Given the description of an element on the screen output the (x, y) to click on. 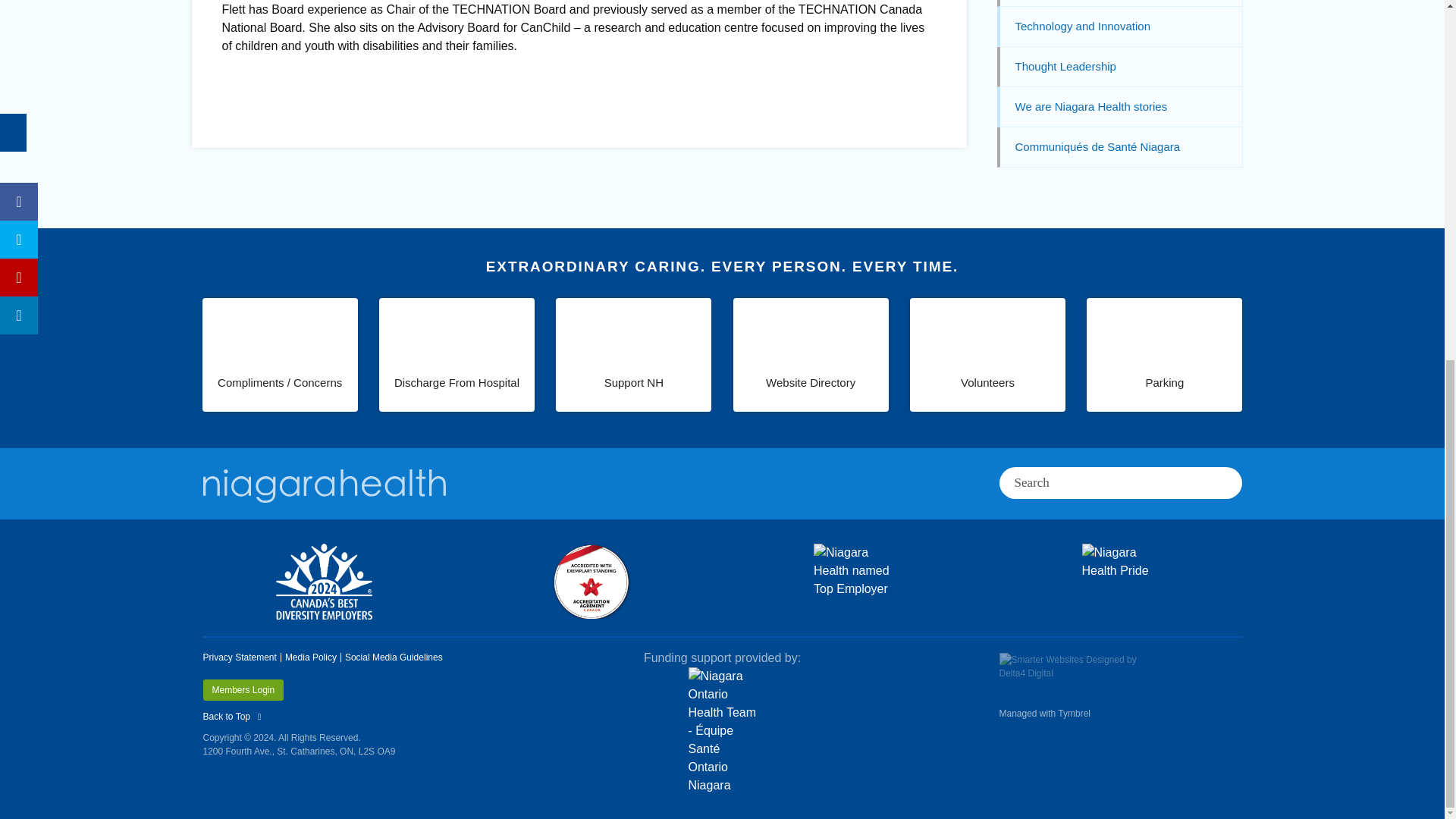
Search (1095, 482)
